Given the description of an element on the screen output the (x, y) to click on. 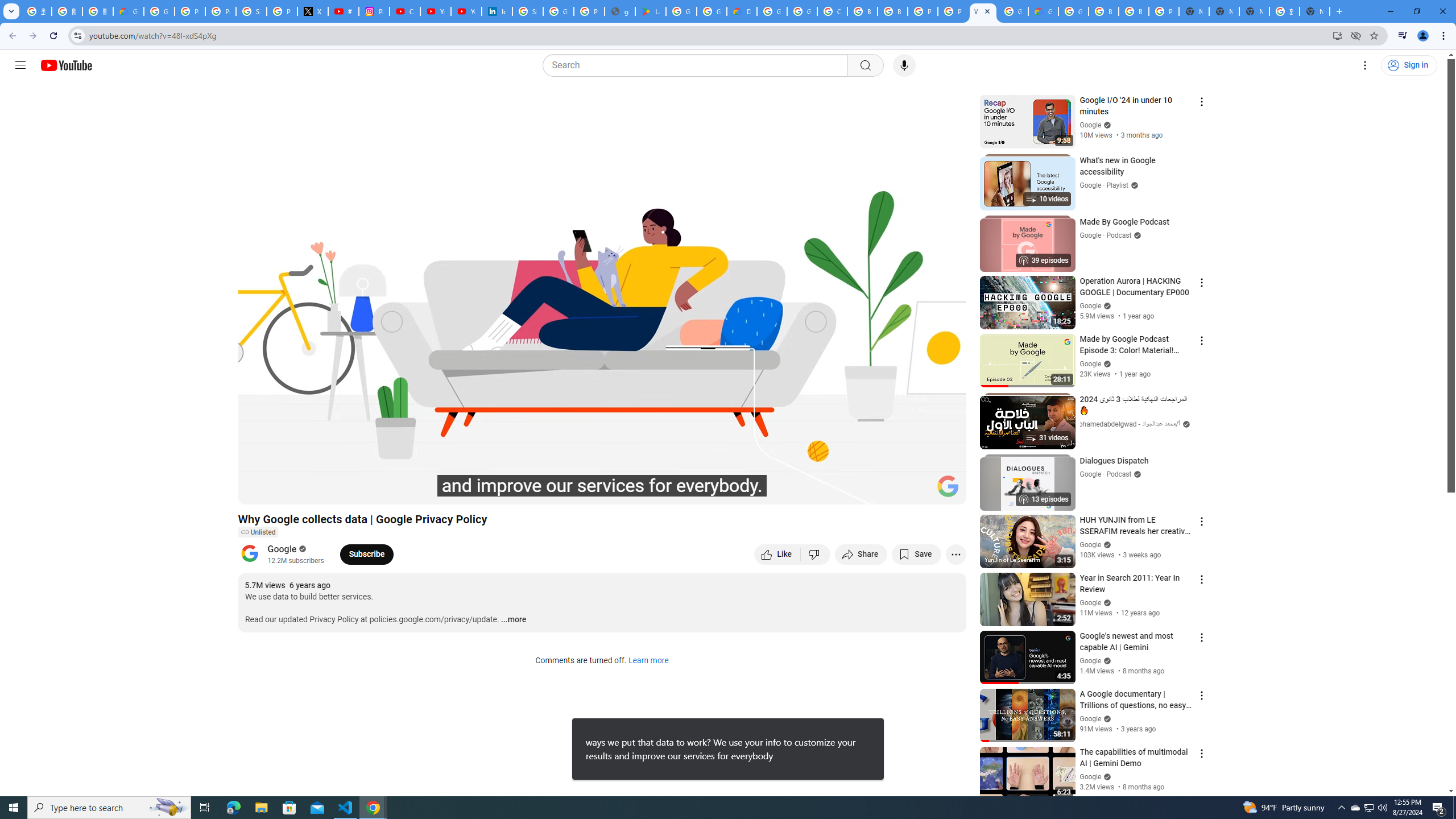
Pause (k) (257, 490)
Search with your voice (903, 65)
Sign in - Google Accounts (251, 11)
google_privacy_policy_en.pdf (619, 11)
Google Cloud Platform (1072, 11)
...more (512, 620)
